Given the description of an element on the screen output the (x, y) to click on. 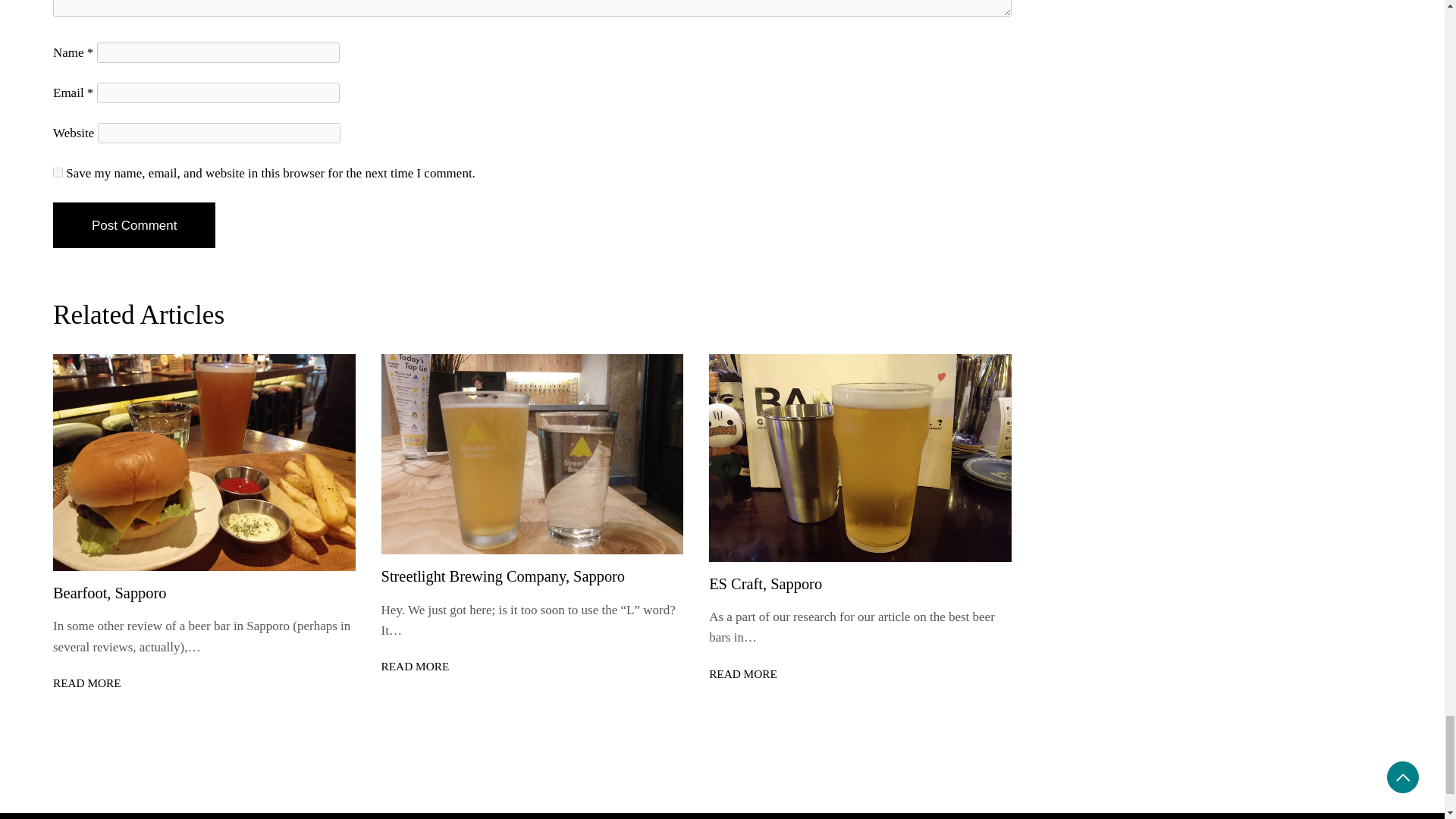
Post Comment (133, 225)
yes (57, 172)
Post Comment (133, 225)
Streetlight Brewing Company, Sapporo (503, 576)
Bearfoot, Sapporo (109, 592)
READ MORE (86, 683)
READ MORE (415, 666)
